Given the description of an element on the screen output the (x, y) to click on. 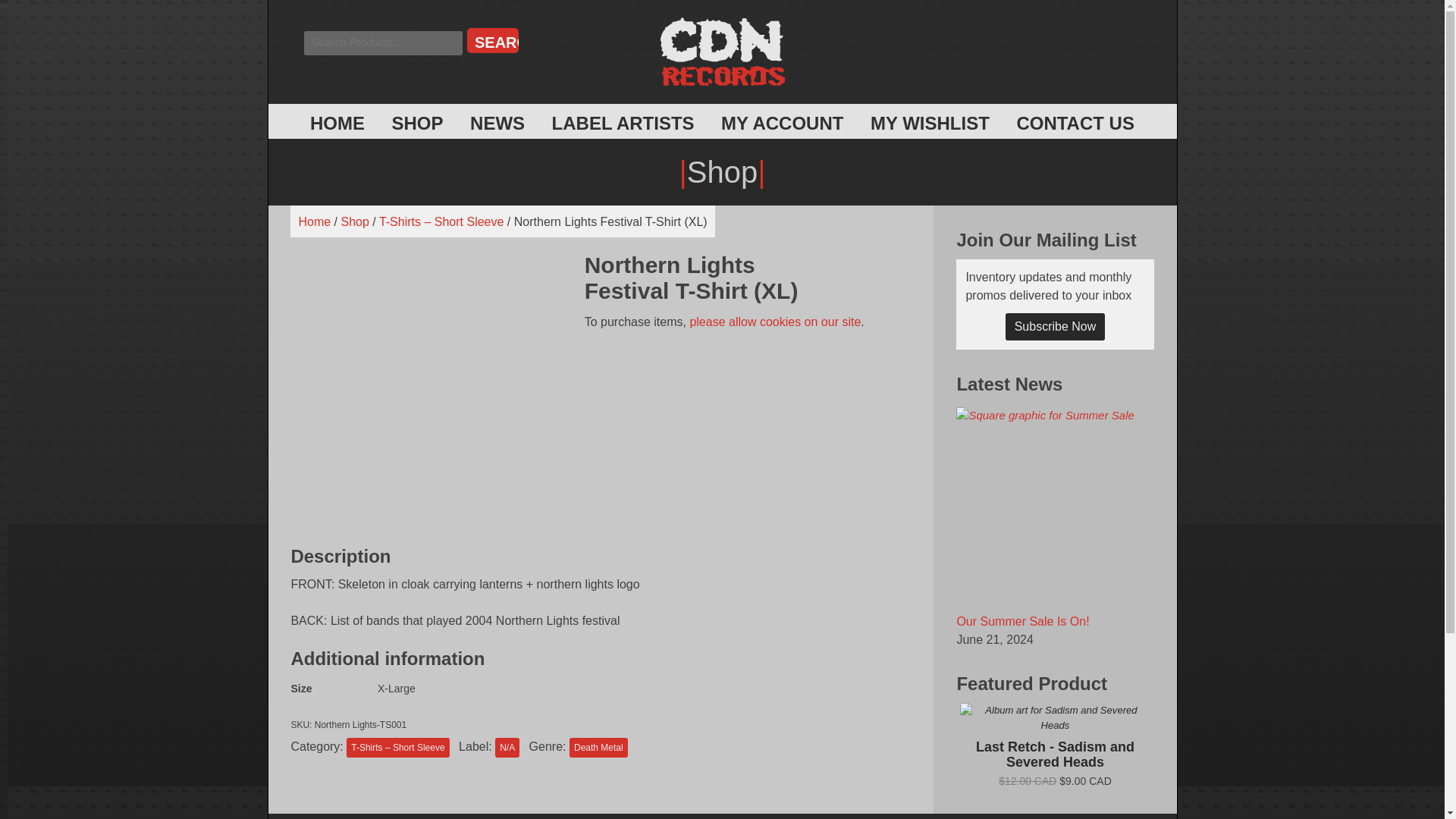
MY ACCOUNT (781, 123)
Search the store: (381, 43)
NEWS (497, 123)
Subscribe Now (1055, 326)
MY WISHLIST (930, 123)
Last Retch - Sadism and Severed Heads (1054, 717)
Death Metal (598, 747)
Last Retch - Sadism and Severed Heads (1054, 744)
HOME (337, 123)
Home (314, 221)
Our Summer Sale Is On! (1022, 621)
please allow cookies on our site (774, 321)
Search (492, 40)
LABEL ARTISTS (622, 123)
Search (492, 40)
